Given the description of an element on the screen output the (x, y) to click on. 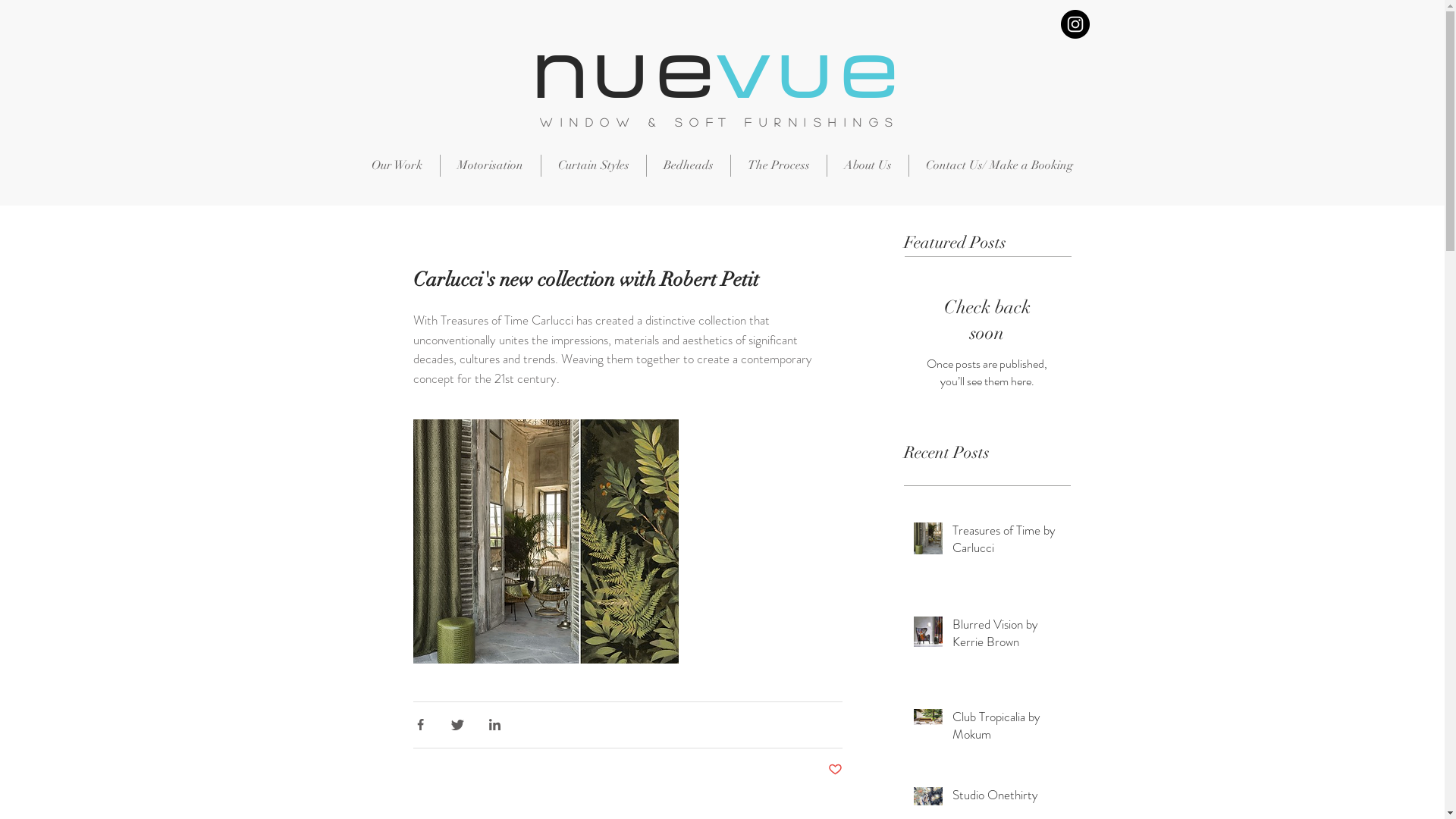
Blurred Vision by Kerrie Brown Element type: text (1006, 636)
Studio Onethirty Element type: text (1006, 798)
WINDOW & SOFT FURNISHINGS Element type: text (719, 121)
Club Tropicalia by Mokum Element type: text (1006, 729)
Bedheads Element type: text (687, 165)
vue Element type: text (810, 73)
About Us Element type: text (866, 165)
The Process Element type: text (778, 165)
Contact Us/ Make a Booking Element type: text (998, 165)
Nue Element type: text (625, 73)
Post not marked as liked Element type: text (835, 770)
Motorisation Element type: text (489, 165)
Treasures of Time by Carlucci Element type: text (1006, 542)
Curtain Styles Element type: text (593, 165)
Our Work Element type: text (396, 165)
